Given the description of an element on the screen output the (x, y) to click on. 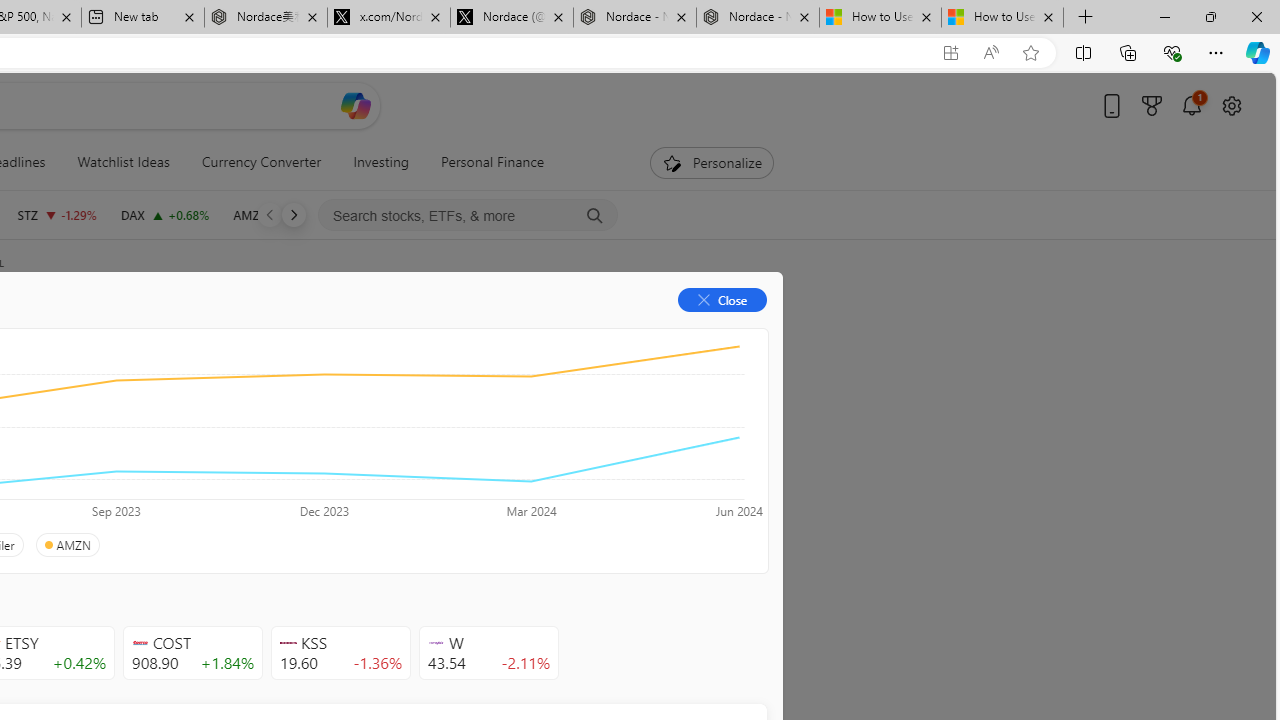
x.com/NordaceOfficial (388, 17)
Investors (495, 331)
Restore (1210, 16)
Sentiment (595, 331)
Open Copilot (355, 105)
Split screen (1083, 52)
Watchlist Ideas (123, 162)
